Given the description of an element on the screen output the (x, y) to click on. 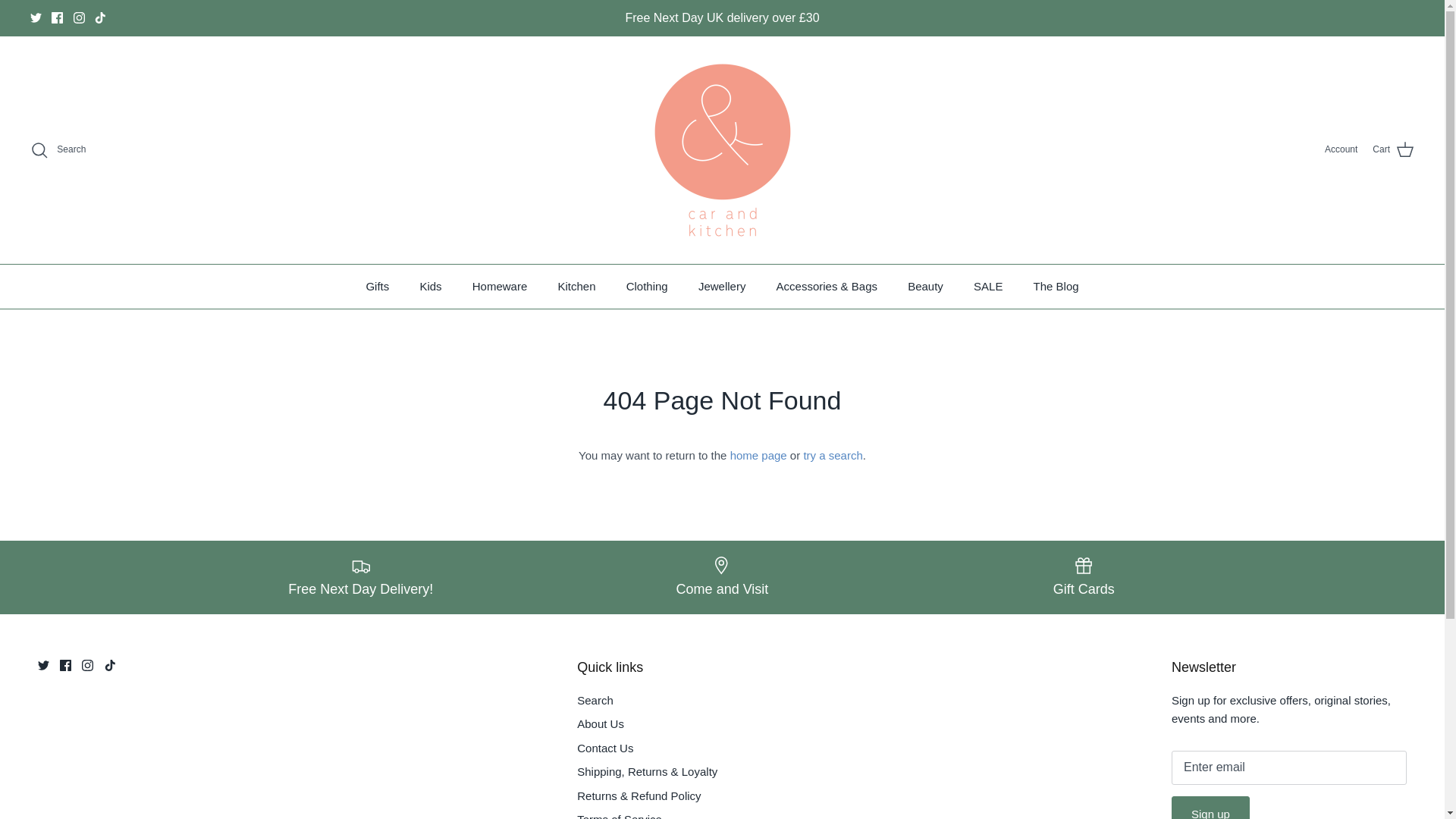
Twitter (43, 665)
Twitter (36, 17)
Instagram (87, 665)
Account (1340, 149)
Twitter (36, 17)
Search (57, 149)
Facebook (56, 17)
Cart (1393, 149)
Instagram (79, 17)
Facebook (65, 665)
Instagram (79, 17)
Gifts (377, 286)
Facebook (56, 17)
